Given the description of an element on the screen output the (x, y) to click on. 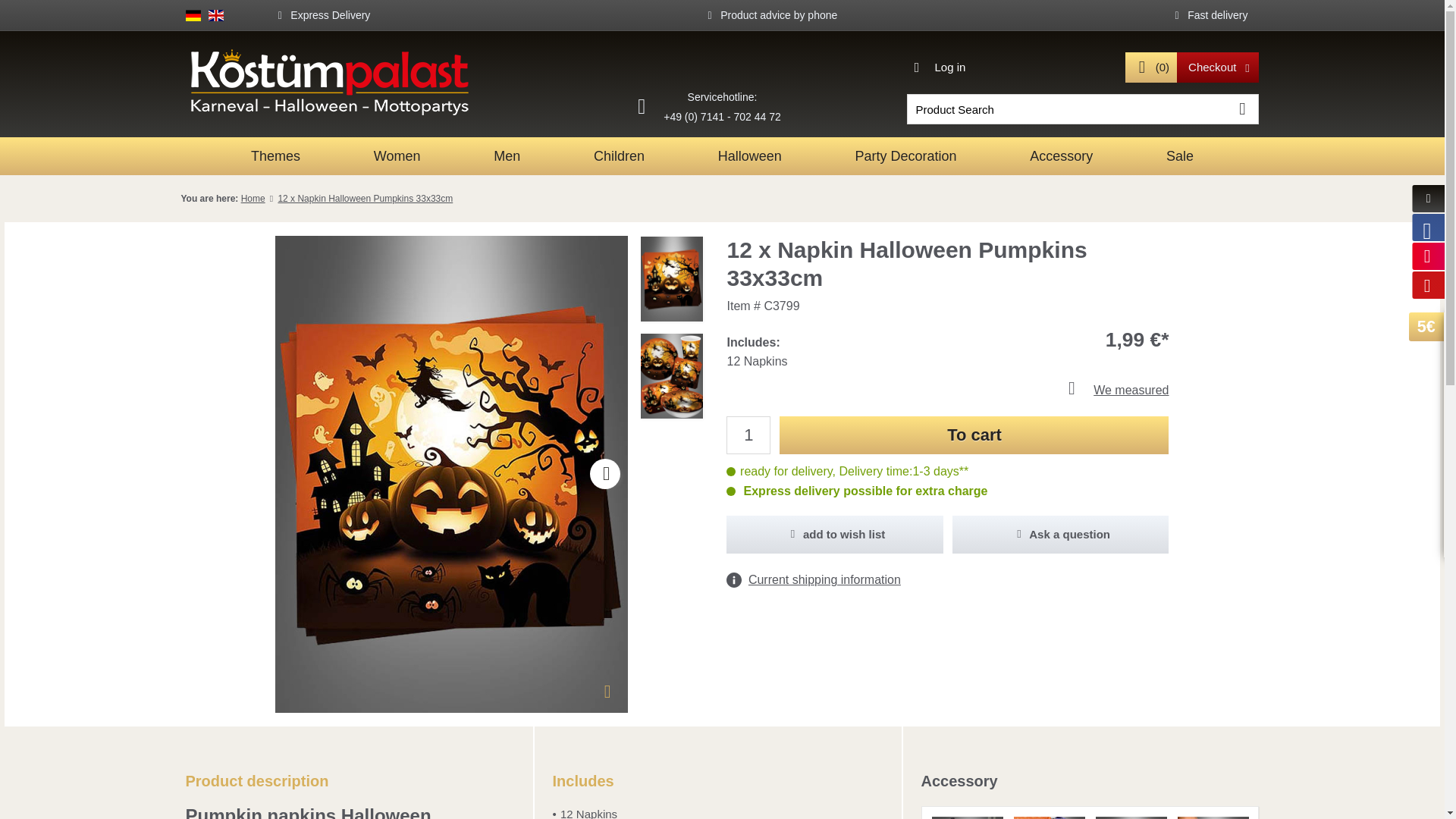
Themes (274, 156)
We measured (947, 390)
Search (1242, 109)
12 x Napkin Halloween Pumpkins 33x33cm (365, 198)
English (215, 14)
Deutsch (192, 14)
Kostuempalast.de (360, 81)
Deutsch (192, 14)
1 (748, 435)
Please log in to access the wish list. (834, 534)
